Given the description of an element on the screen output the (x, y) to click on. 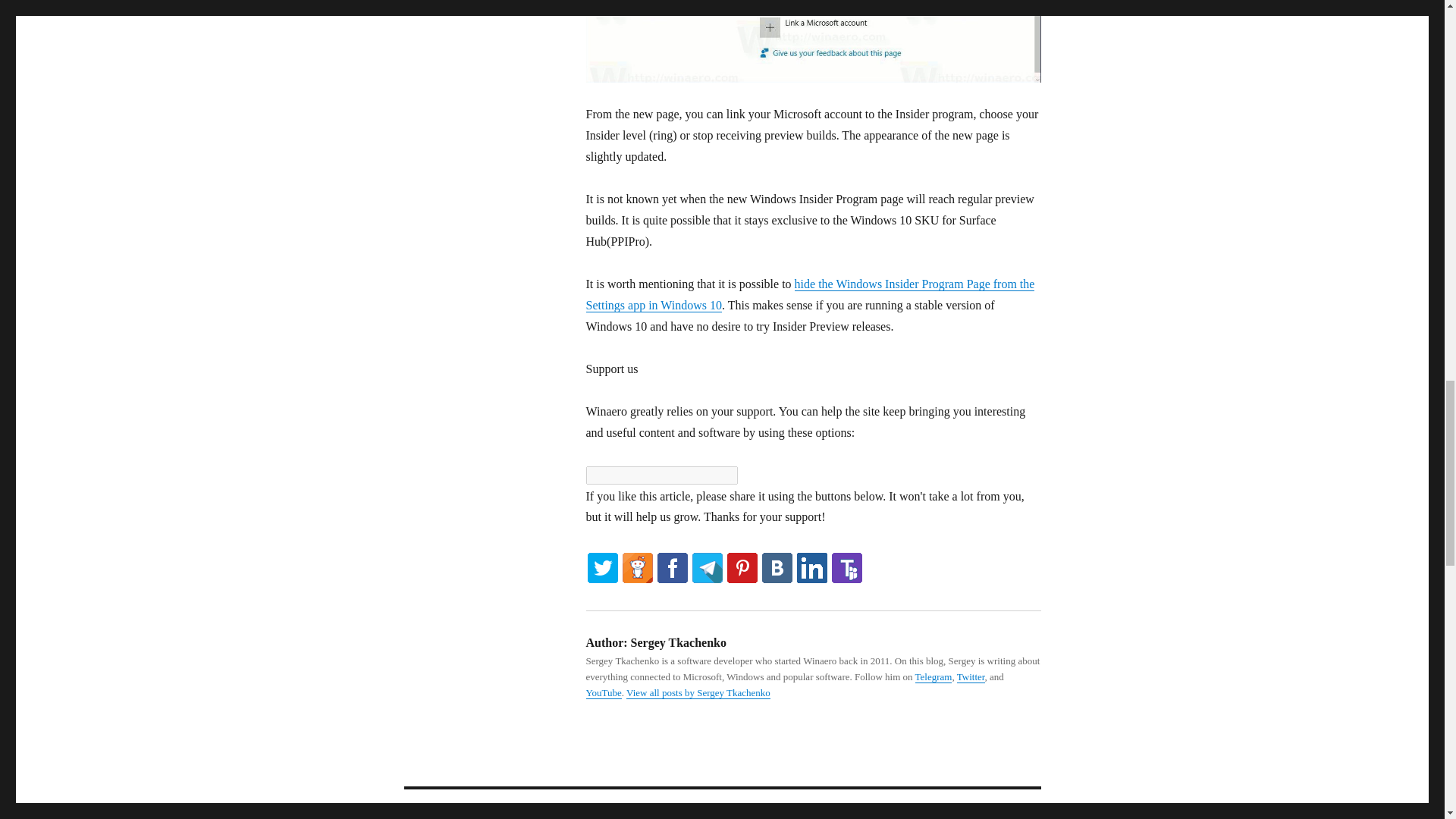
YouTube (603, 692)
View all posts by Sergey Tkachenko (698, 692)
Telegram (933, 676)
Twitter (970, 676)
